Given the description of an element on the screen output the (x, y) to click on. 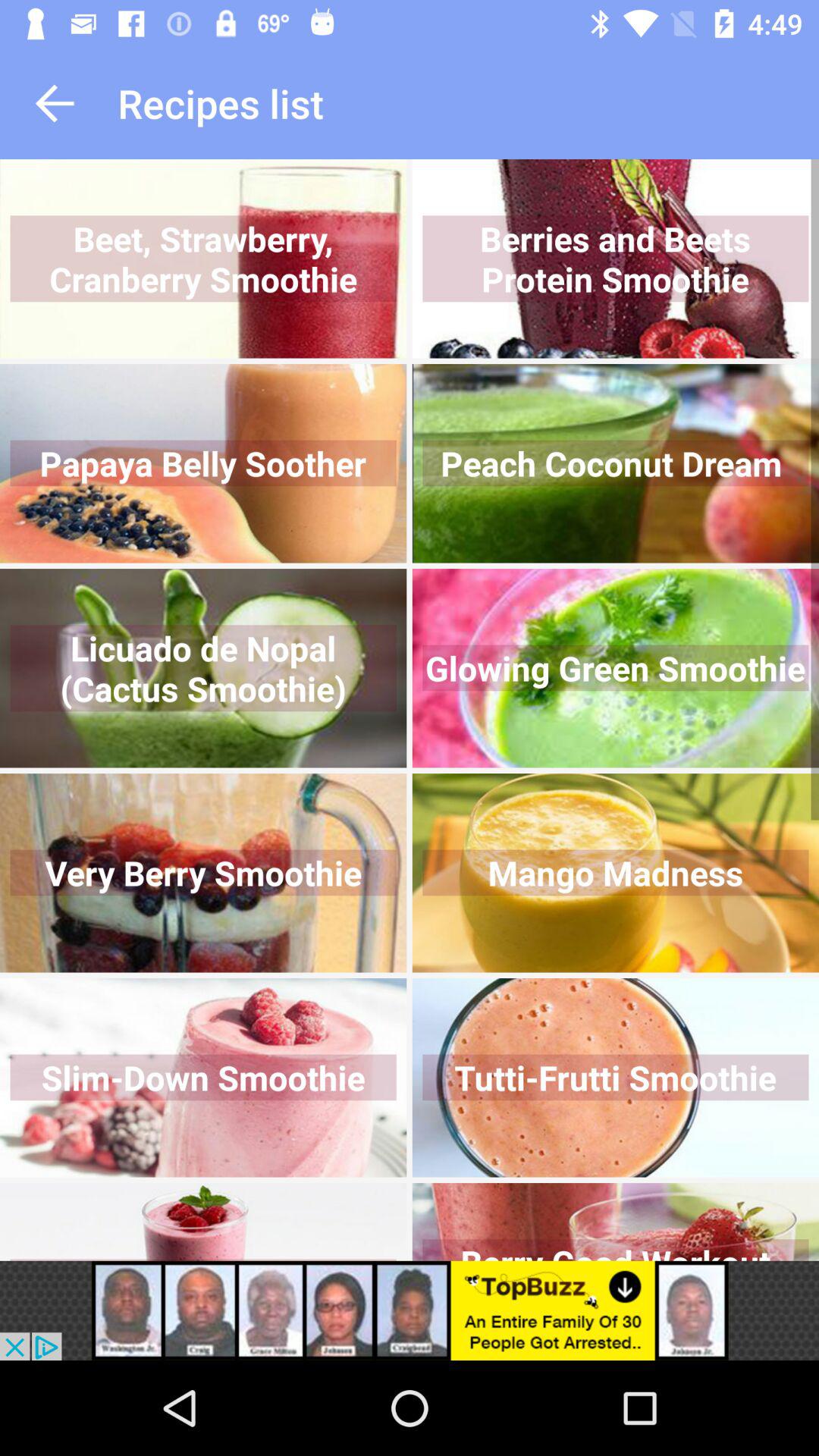
previous page (54, 103)
